Given the description of an element on the screen output the (x, y) to click on. 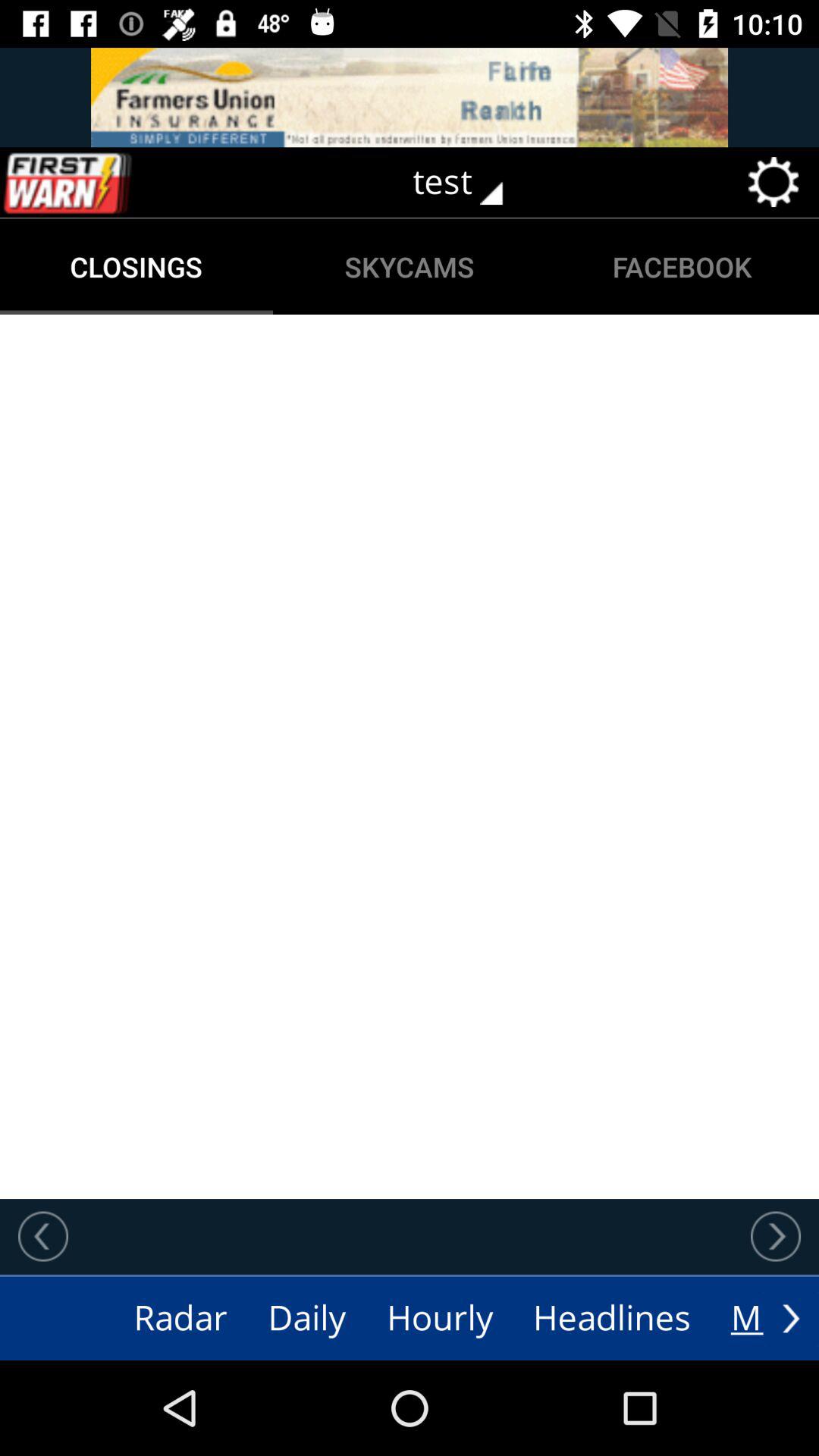
switch autoplay option (409, 97)
